Given the description of an element on the screen output the (x, y) to click on. 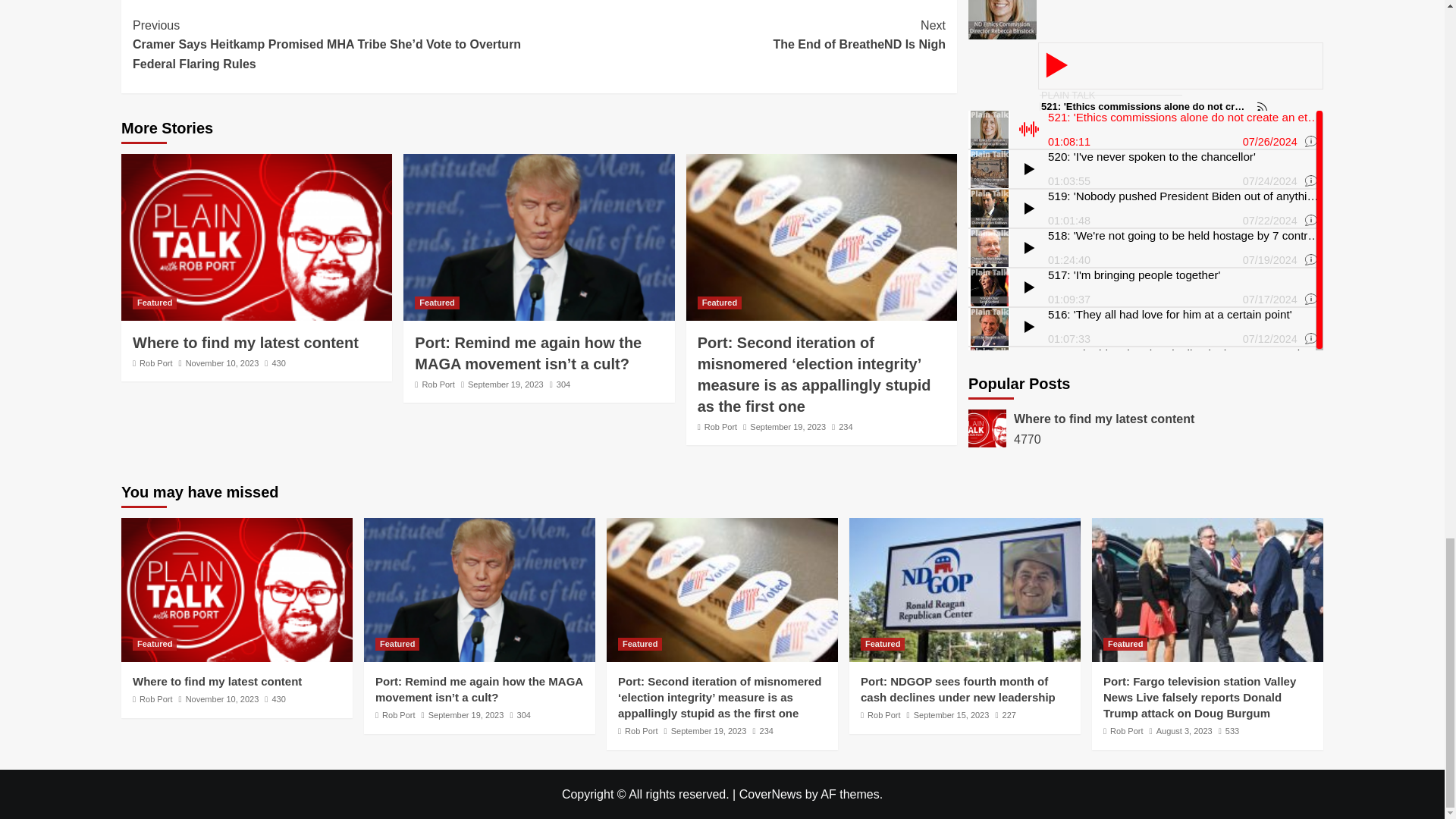
430 (274, 362)
Featured (154, 302)
November 10, 2023 (222, 362)
Where to find my latest content (245, 342)
Rob Port (741, 34)
